Given the description of an element on the screen output the (x, y) to click on. 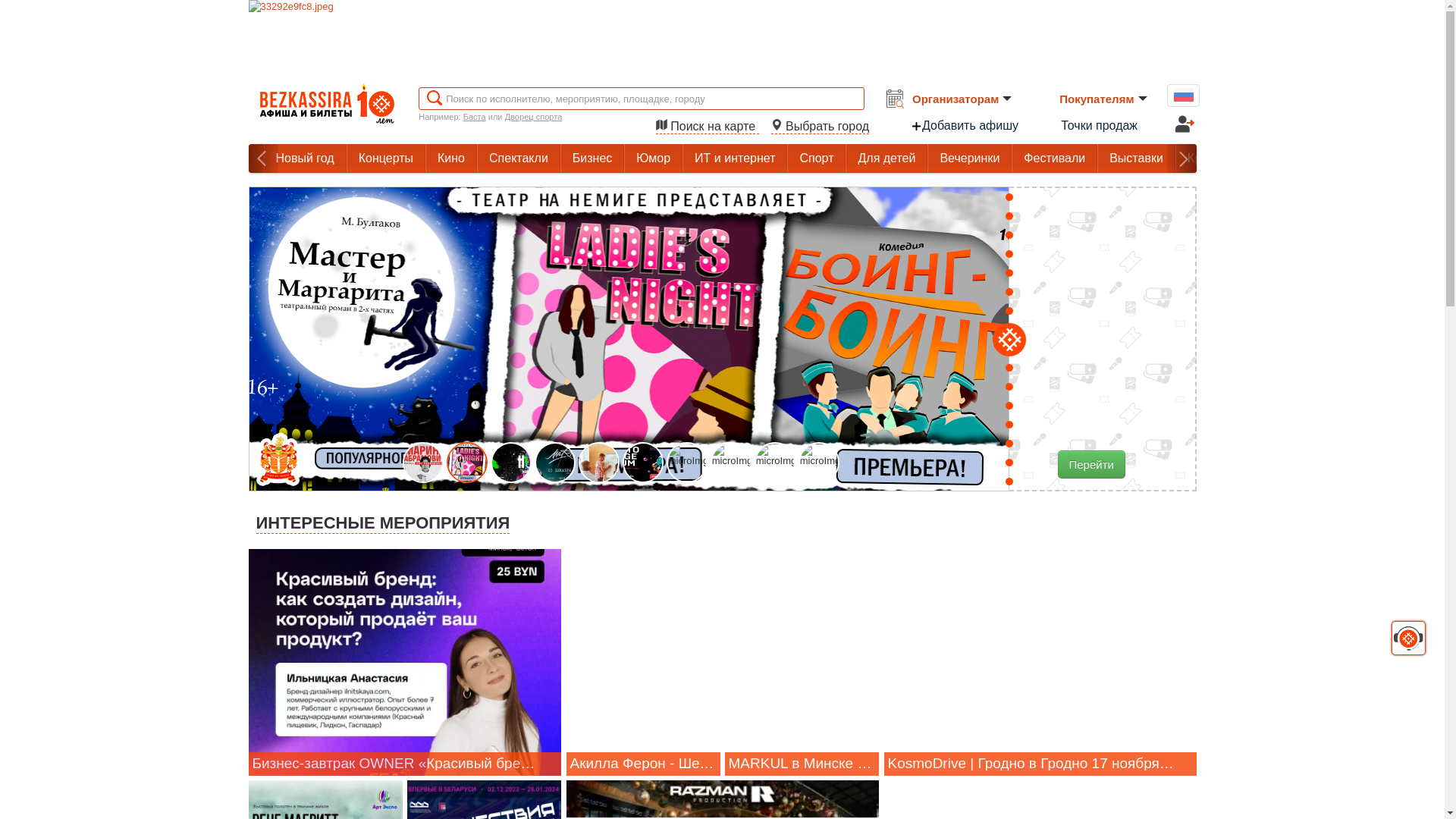
0 Element type: text (15, 10)
